Given the description of an element on the screen output the (x, y) to click on. 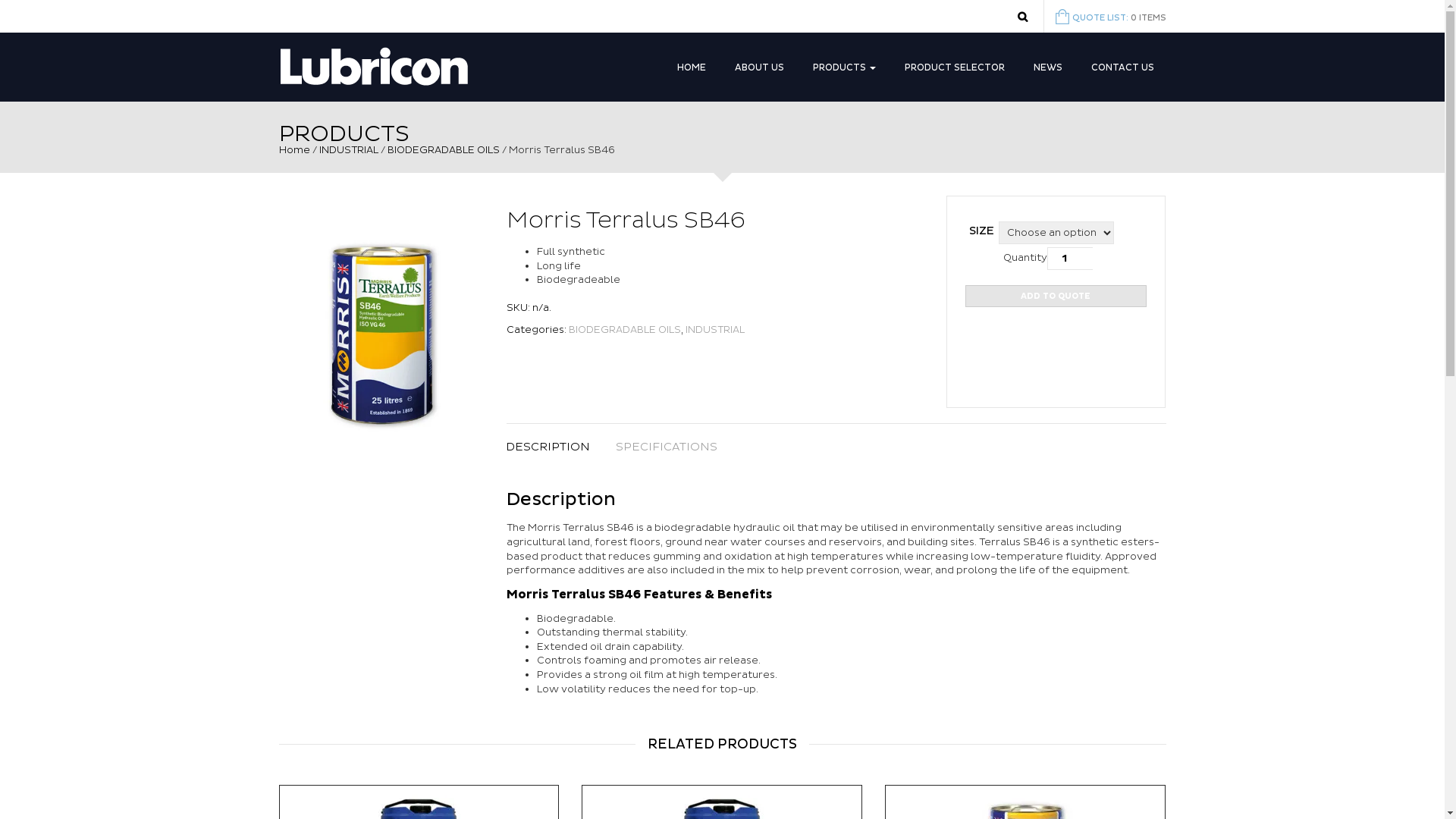
lubricon_morris_industrial_terralus_sb_46 Element type: hover (381, 332)
Quantity Element type: hover (1069, 258)
ADD TO QUOTE Element type: text (1055, 296)
INDUSTRIAL Element type: text (714, 329)
ABOUT US Element type: text (758, 63)
0 ITEMS Element type: text (1147, 17)
Home Element type: text (294, 150)
DESCRIPTION Element type: text (553, 446)
BIODEGRADABLE OILS Element type: text (624, 329)
CONTACT US Element type: text (1121, 63)
PRODUCT SELECTOR Element type: text (953, 63)
PRODUCTS Element type: text (844, 63)
INDUSTRIAL Element type: text (347, 150)
NEWS Element type: text (1046, 63)
BIODEGRADABLE OILS Element type: text (442, 150)
SPECIFICATIONS Element type: text (666, 446)
HOME Element type: text (690, 63)
